Given the description of an element on the screen output the (x, y) to click on. 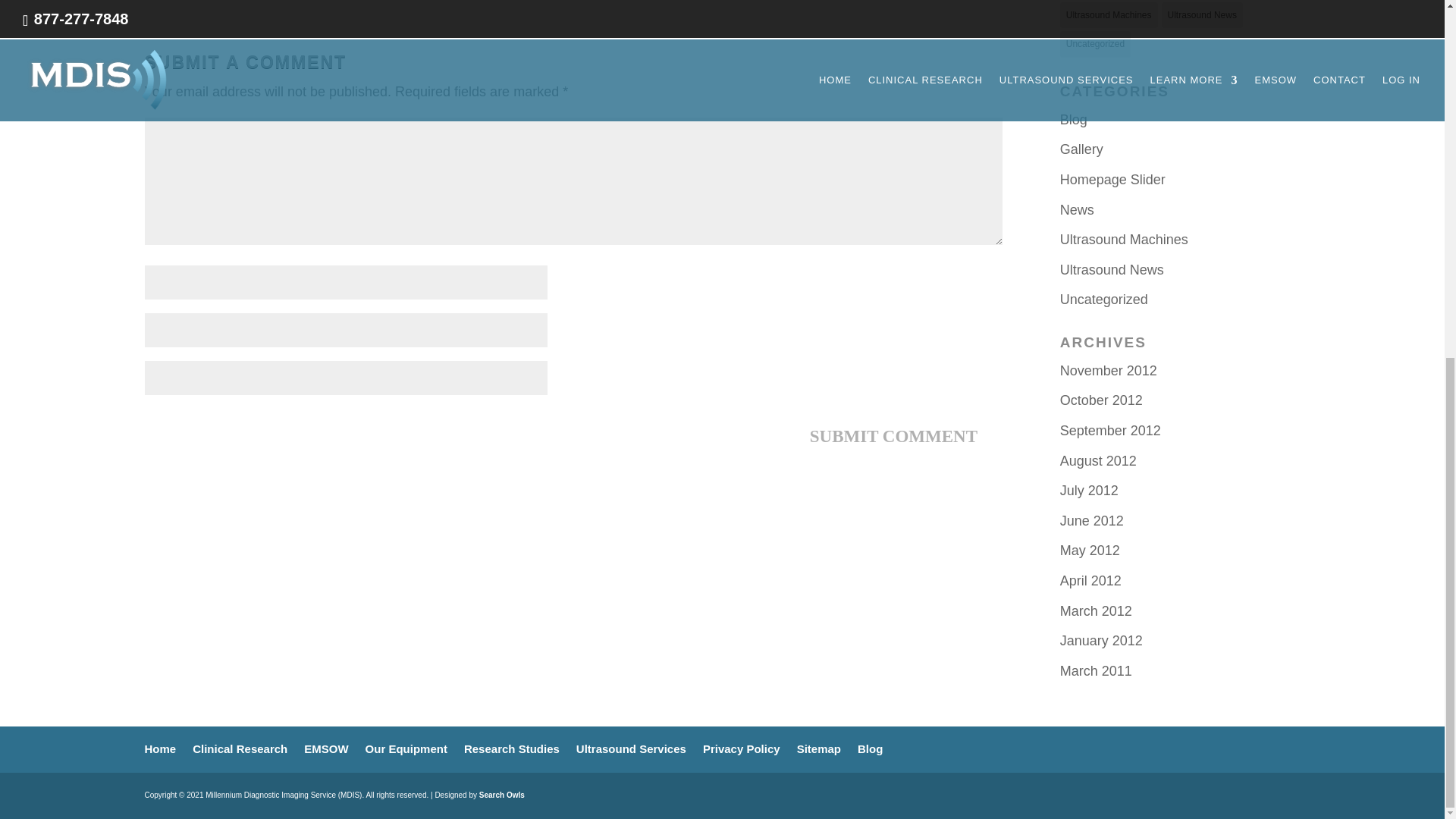
Submit Comment (893, 436)
Submit Comment (893, 436)
